Given the description of an element on the screen output the (x, y) to click on. 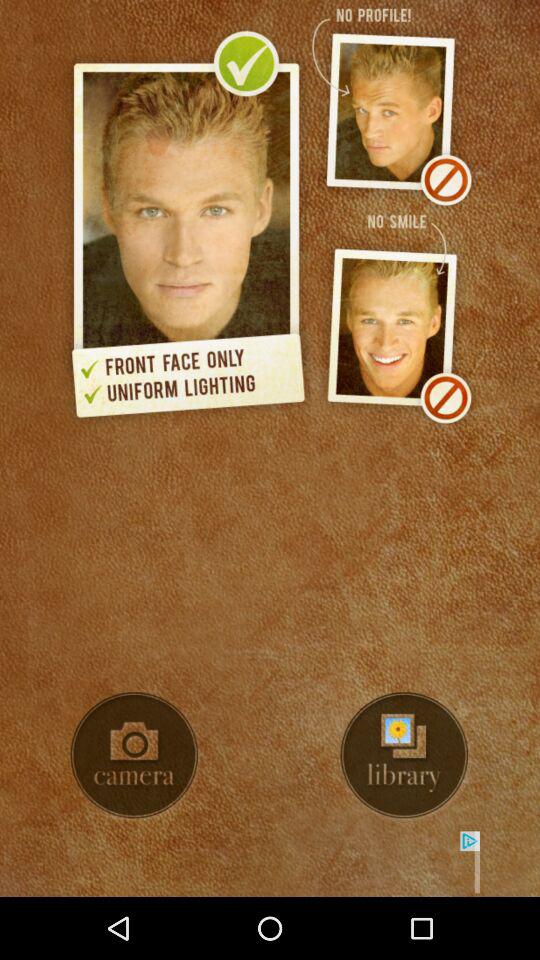
look for library (404, 755)
